Given the description of an element on the screen output the (x, y) to click on. 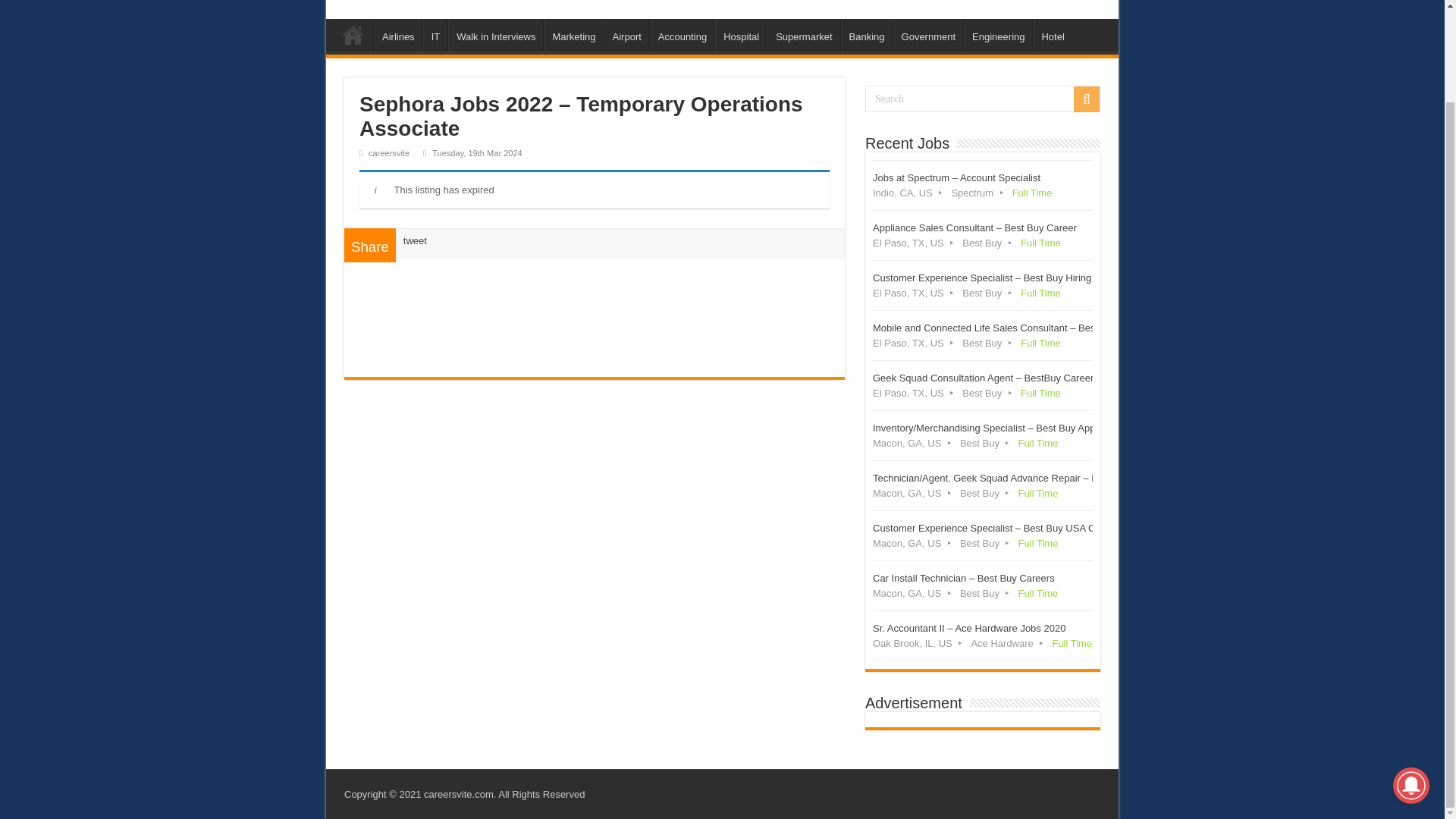
Search (1086, 99)
Supermarket (803, 34)
Government (928, 34)
careersvite (388, 153)
Marketing (572, 34)
Airlines (398, 34)
Search (982, 98)
Hotel (1051, 34)
Home (352, 34)
Airport (626, 34)
Accounting (681, 34)
Banking (866, 34)
Hospital (740, 34)
Advertisement (594, 313)
Engineering (997, 34)
